Given the description of an element on the screen output the (x, y) to click on. 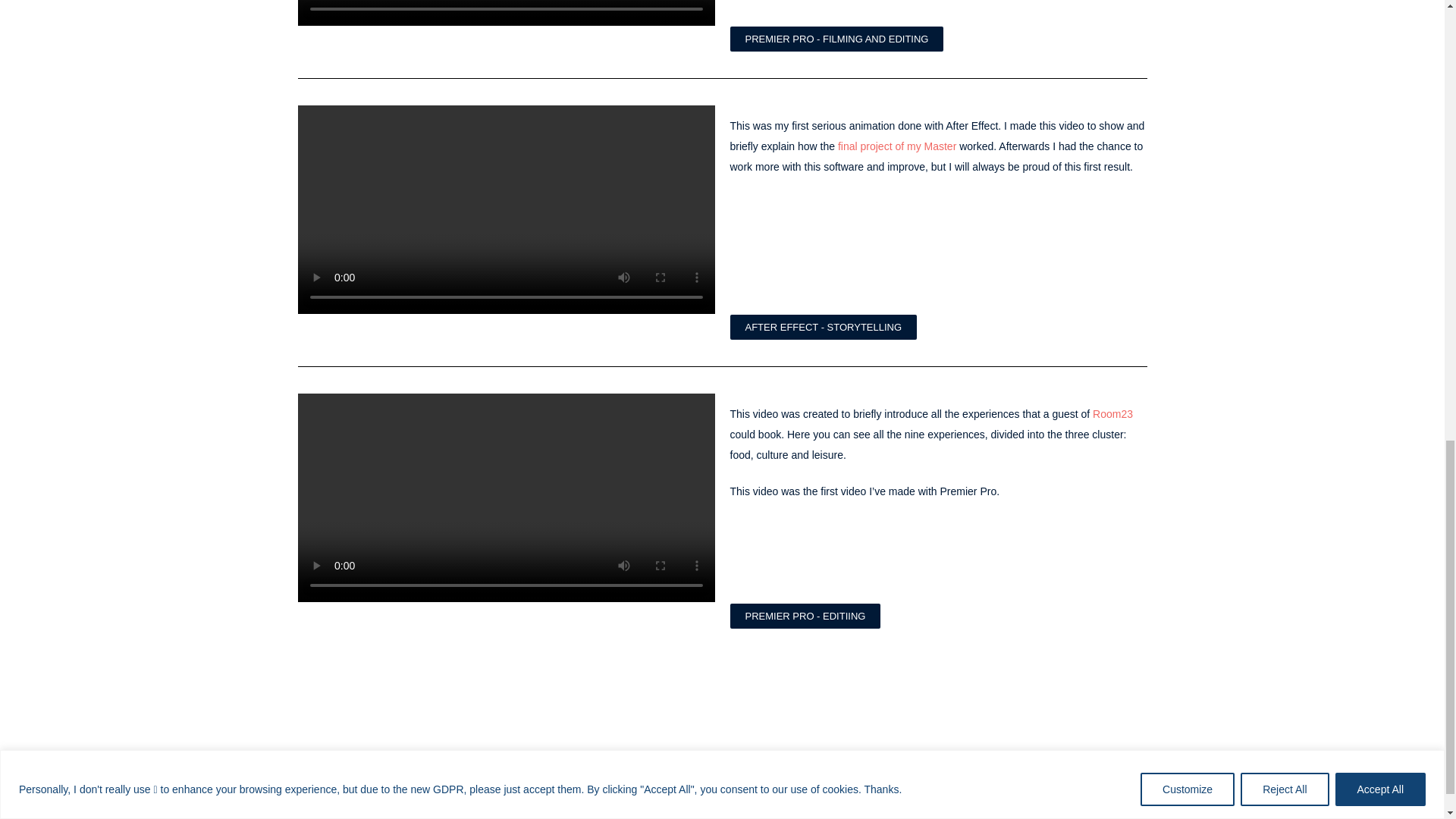
Proudly powered by WordPress (639, 799)
PREMIER PRO - EDITIING (804, 615)
Room23 (1112, 413)
GretaThemes (842, 799)
final project of my Master (897, 146)
PREMIER PRO - FILMING AND EDITING (836, 38)
AFTER EFFECT - STORYTELLING (823, 326)
